Given the description of an element on the screen output the (x, y) to click on. 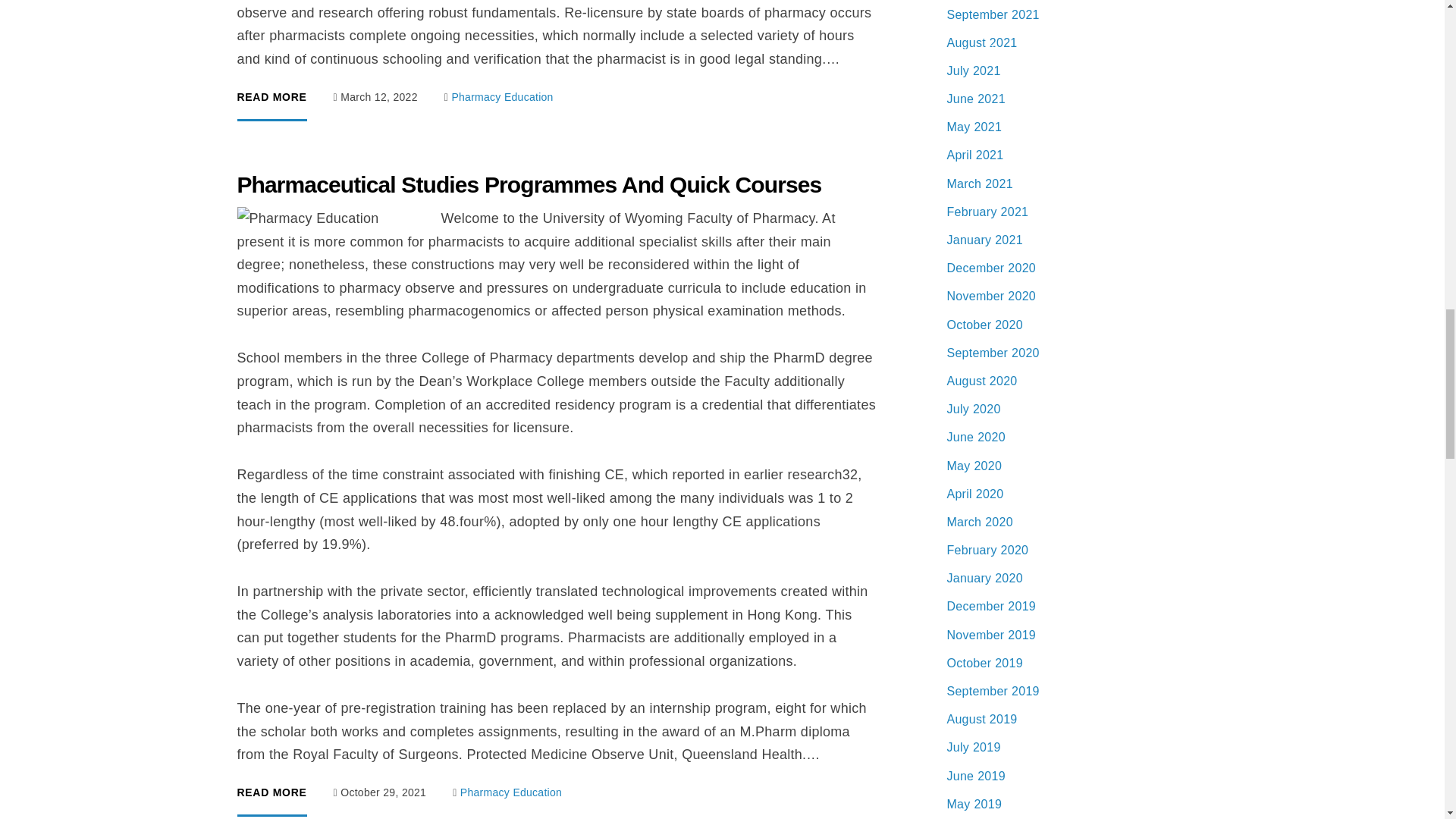
Pharmacy Education (502, 96)
READ MORE (270, 106)
READ MORE (270, 801)
Pharmaceutical Studies Programmes And Quick Courses (528, 184)
Pharmacy Education (511, 792)
